Given the description of an element on the screen output the (x, y) to click on. 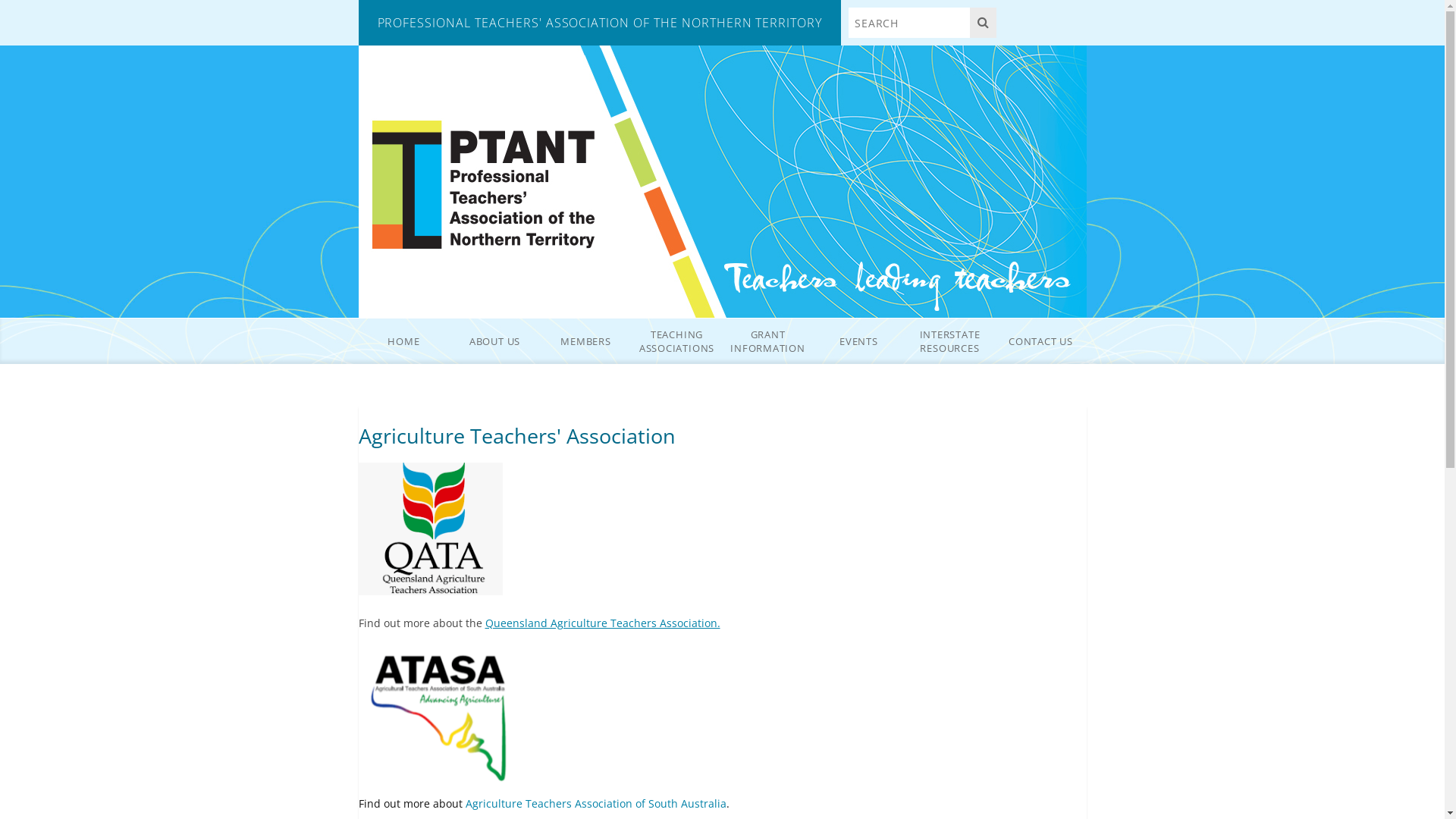
EVENTS Element type: text (857, 341)
Agriculture Teachers Association of South Australia Element type: text (595, 803)
TEACHING ASSOCIATIONS Element type: text (675, 341)
INTERSTATE RESOURCES Element type: text (948, 341)
MEMBERS Element type: text (584, 341)
Search Element type: hover (908, 22)
GRANT INFORMATION Element type: text (766, 341)
ABOUT US Element type: text (493, 341)
Queensland Agriculture Teachers Association. Element type: text (602, 622)
CONTACT US Element type: text (1039, 341)
HOME Element type: text (402, 341)
PROFESSIONAL TEACHERS' ASSOCIATION OF THE NORTHERN TERRITORY Element type: text (598, 22)
Search Element type: hover (982, 22)
